Given the description of an element on the screen output the (x, y) to click on. 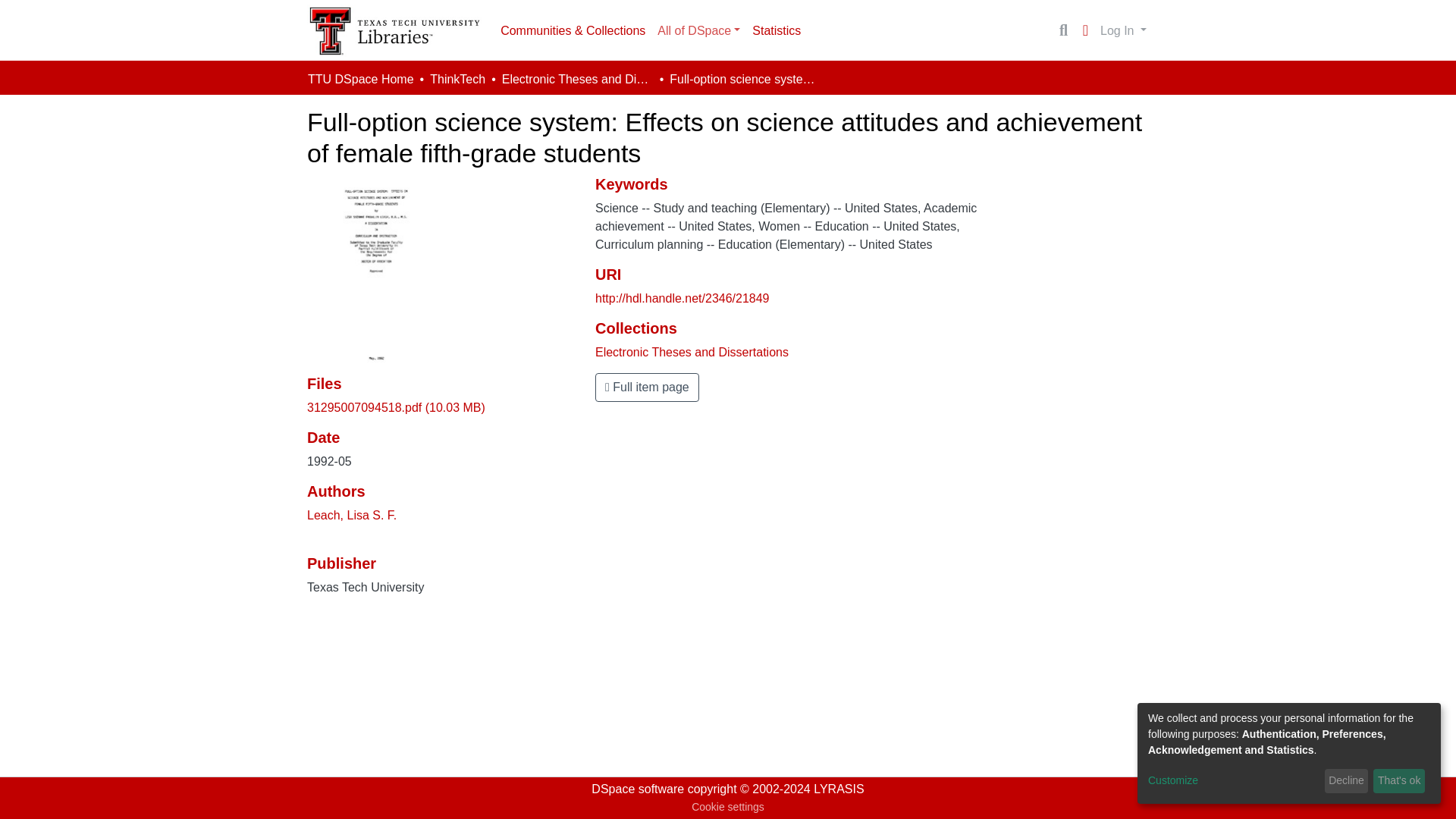
TTU DSpace Home (360, 79)
LYRASIS (838, 788)
Electronic Theses and Dissertations (692, 351)
Language switch (1084, 30)
Electronic Theses and Dissertations (577, 79)
Cookie settings (727, 806)
Statistics (775, 30)
Search (1063, 30)
Log In (1122, 30)
Customize (1233, 780)
